Given the description of an element on the screen output the (x, y) to click on. 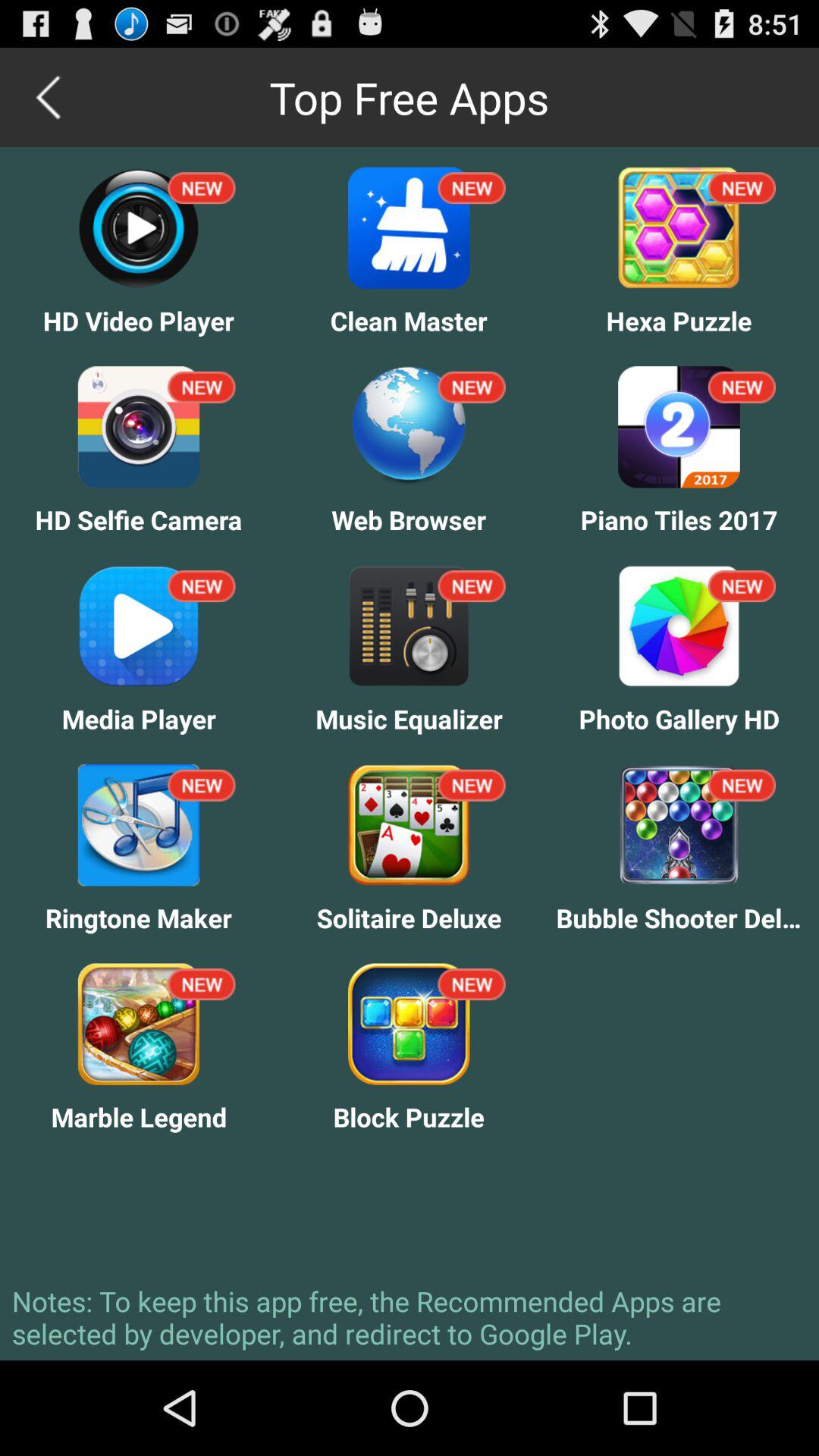
tap the app to the left of top free apps (49, 97)
